Given the description of an element on the screen output the (x, y) to click on. 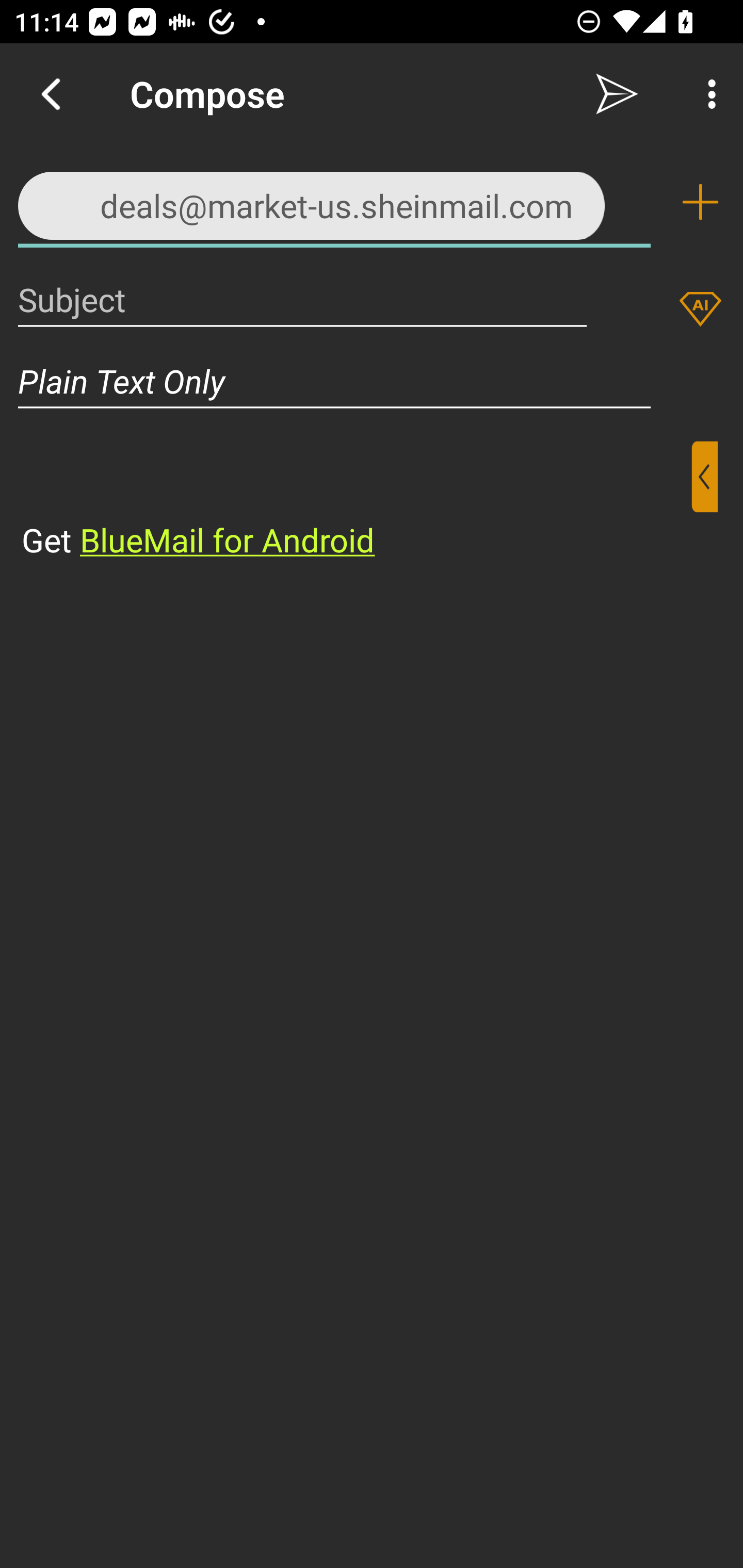
Navigate up (50, 93)
Send (616, 93)
More Options (706, 93)
<deals@market-us.sheinmail.com>,  (334, 201)
Add recipient (To) (699, 201)
Subject (302, 299)
Plain Text Only (371, 380)


⁣Get BlueMail for Android ​ (355, 501)
